Given the description of an element on the screen output the (x, y) to click on. 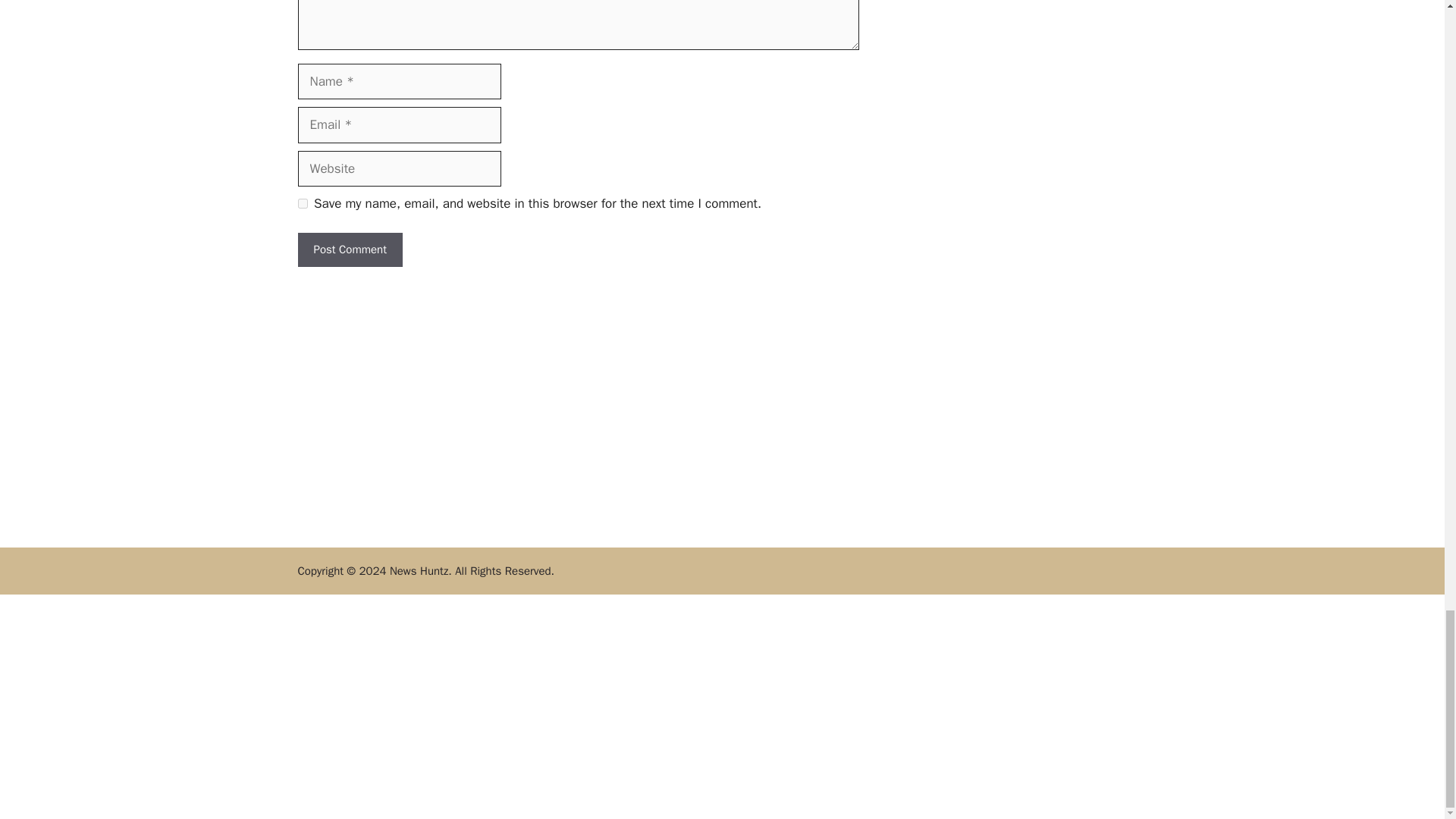
Post Comment (349, 249)
Post Comment (349, 249)
yes (302, 203)
